Given the description of an element on the screen output the (x, y) to click on. 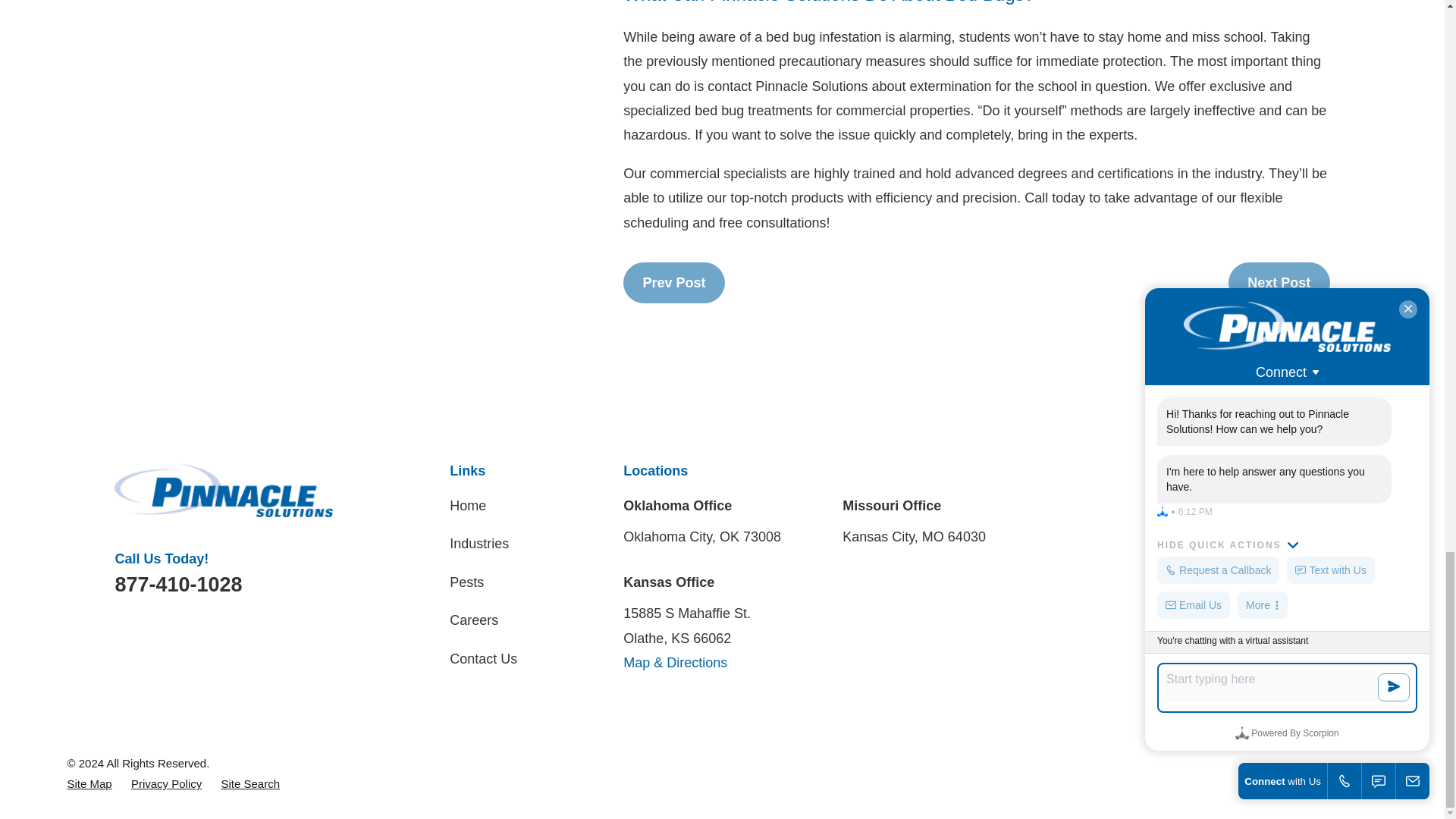
Google Business Profile (1195, 502)
LinkedIn (1236, 502)
Home (224, 489)
Facebook (1156, 502)
